Given the description of an element on the screen output the (x, y) to click on. 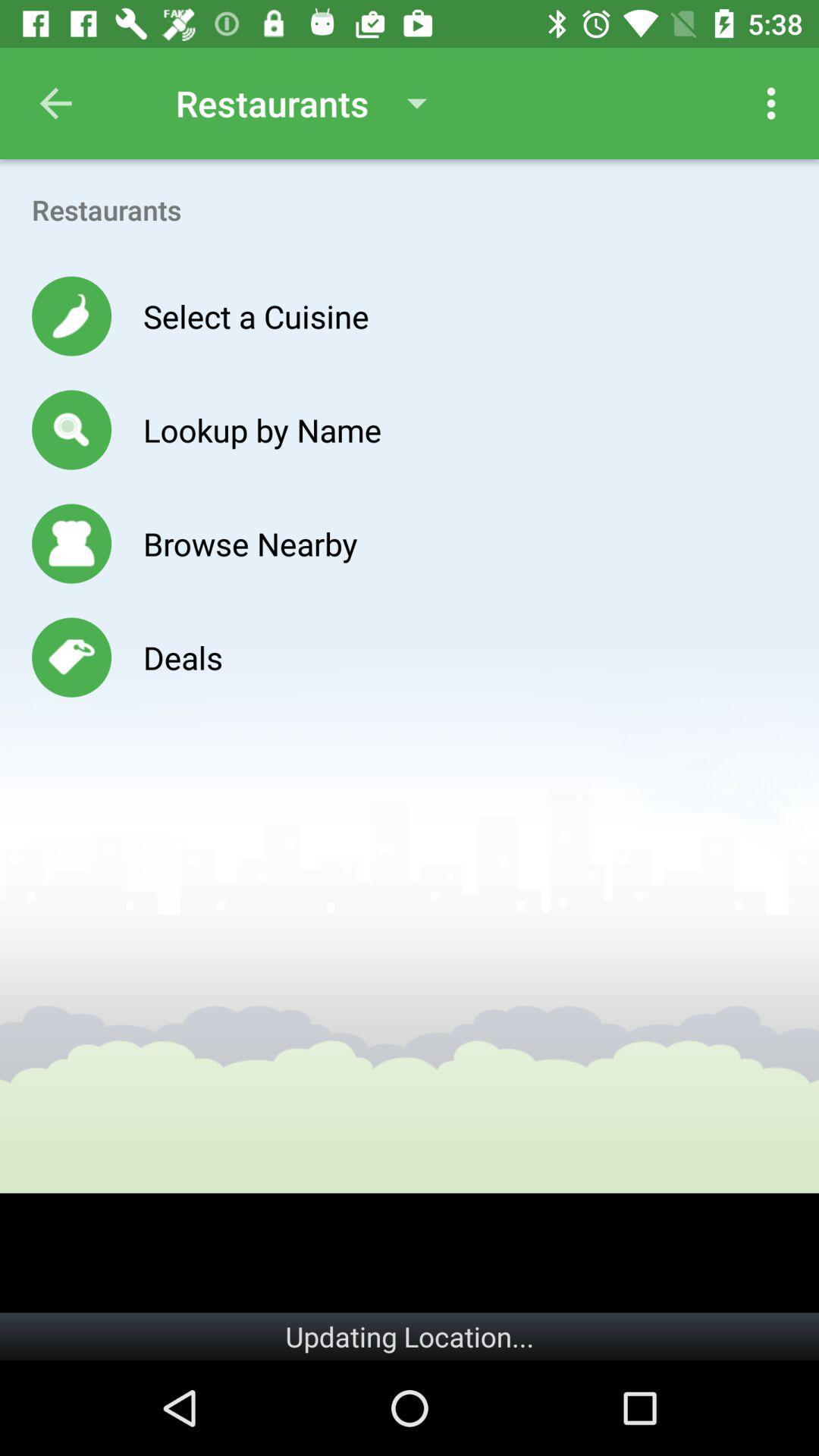
turn off the lookup by name (262, 429)
